Given the description of an element on the screen output the (x, y) to click on. 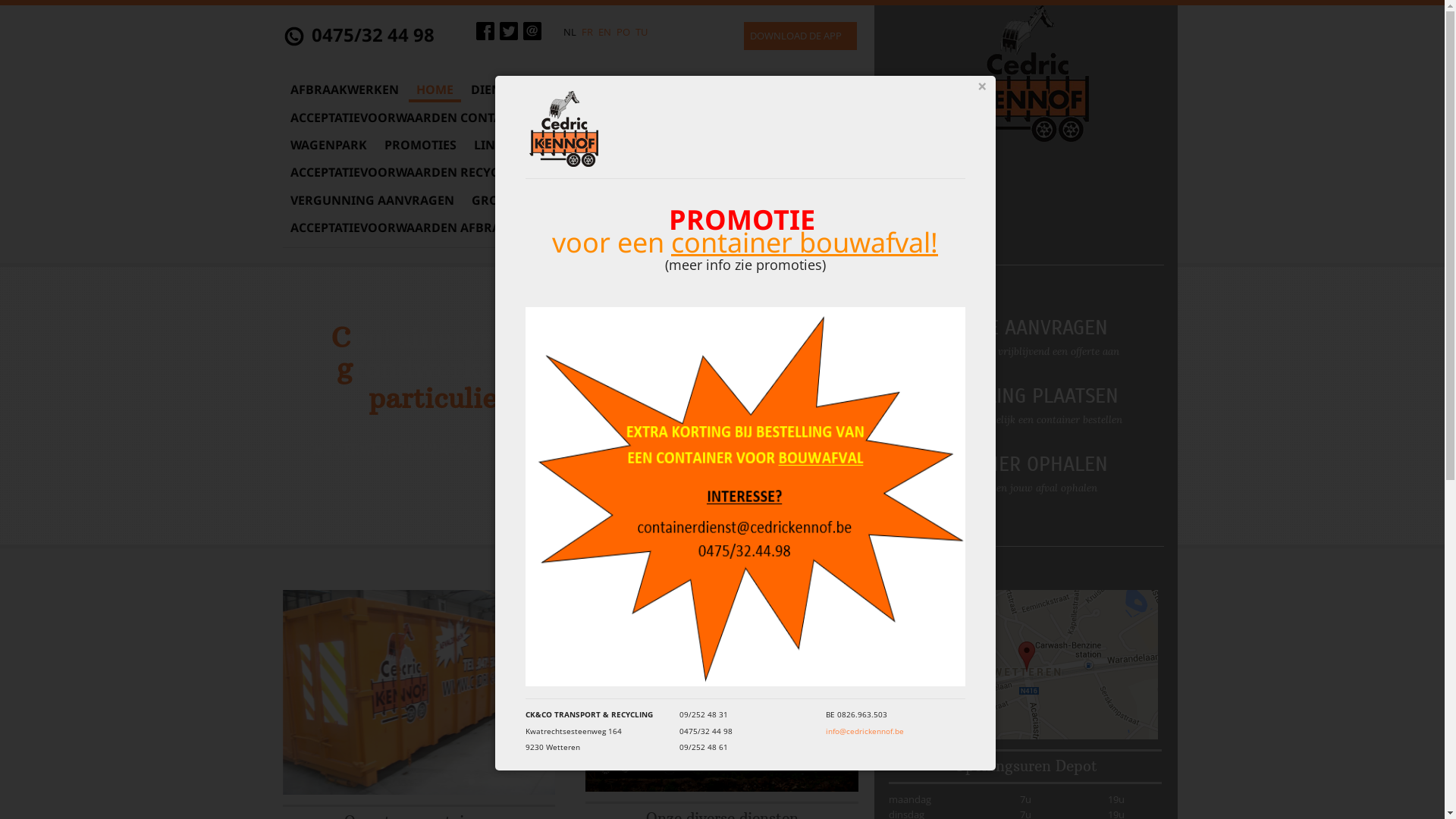
info@cedrickennof.be Element type: text (864, 730)
DIENSTEN Element type: text (500, 89)
FR Element type: text (586, 32)
CONTACT Element type: text (555, 144)
PROMOTIES Element type: text (419, 144)
NL Element type: text (568, 32)
JOBS Element type: text (802, 171)
EN Element type: text (603, 32)
ACCEPTATIEVOORWAARDEN CONTAINERDIENST Element type: text (431, 117)
CONTAINER OPHALEN
Klaar? Wij komen jouw afval ophalen Element type: text (1000, 474)
home Element type: hover (1025, 73)
PO Element type: text (622, 32)
AFBRAAKWERKEN Element type: text (343, 89)
NIEUWS Element type: text (747, 171)
HOME Element type: text (433, 89)
ACCEPTATIEVOORWAARDEN AFBRAAKWERKEN Element type: text (428, 227)
DOWNLOAD DE APP Element type: text (799, 35)
RECYCLAGEPARK Element type: text (650, 144)
VERGUNNING AANVRAGEN Element type: text (371, 199)
GRONDSTOFFEN Element type: text (521, 199)
TU Element type: text (641, 32)
LINKS Element type: text (491, 144)
ACCEPTATIEVOORWAARDEN RECYCLAGEPARK Element type: text (424, 171)
GRONDWERKEN Element type: text (641, 117)
OFFERTE Element type: text (734, 117)
TYPE CONTAINERS Element type: text (603, 89)
WAGENPARK Element type: text (327, 144)
PRIVACY EN COOKIES Element type: text (641, 171)
